Given the description of an element on the screen output the (x, y) to click on. 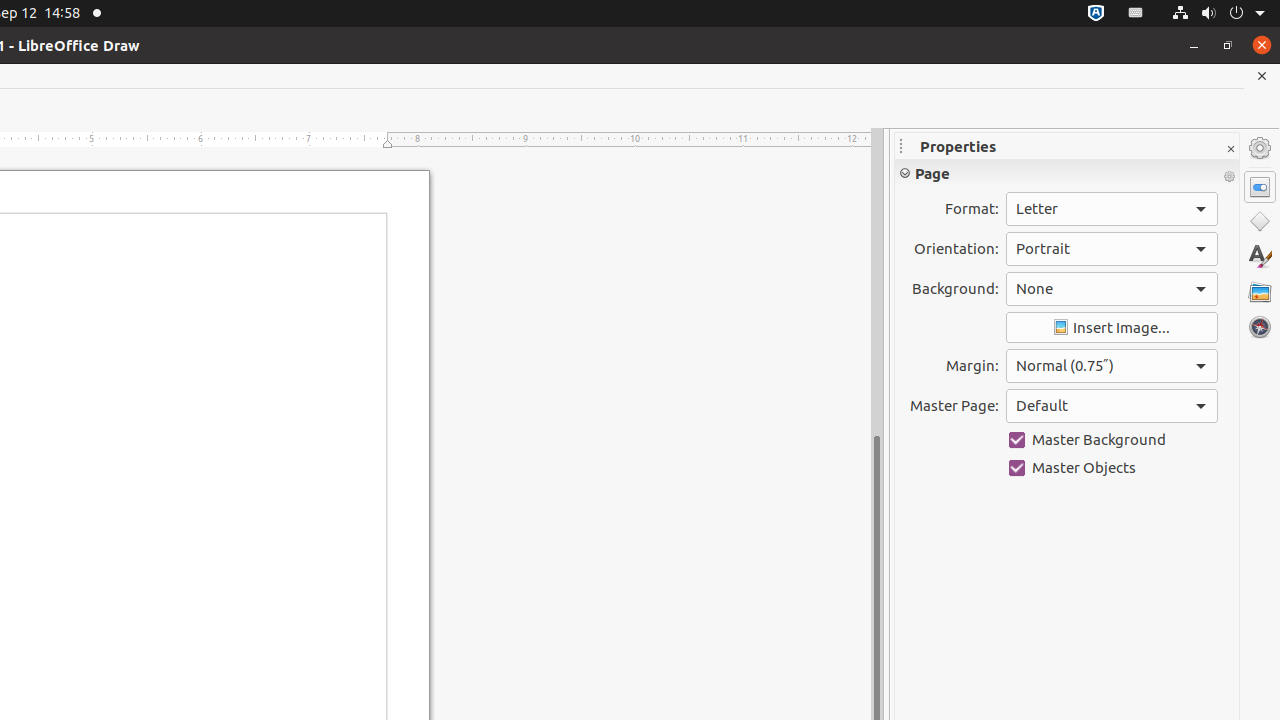
Shapes Element type: radio-button (1260, 222)
Format: Element type: combo-box (1112, 209)
Background: Element type: combo-box (1112, 289)
:1.21/StatusNotifierItem Element type: menu (1136, 13)
Margin: Element type: combo-box (1112, 366)
